Given the description of an element on the screen output the (x, y) to click on. 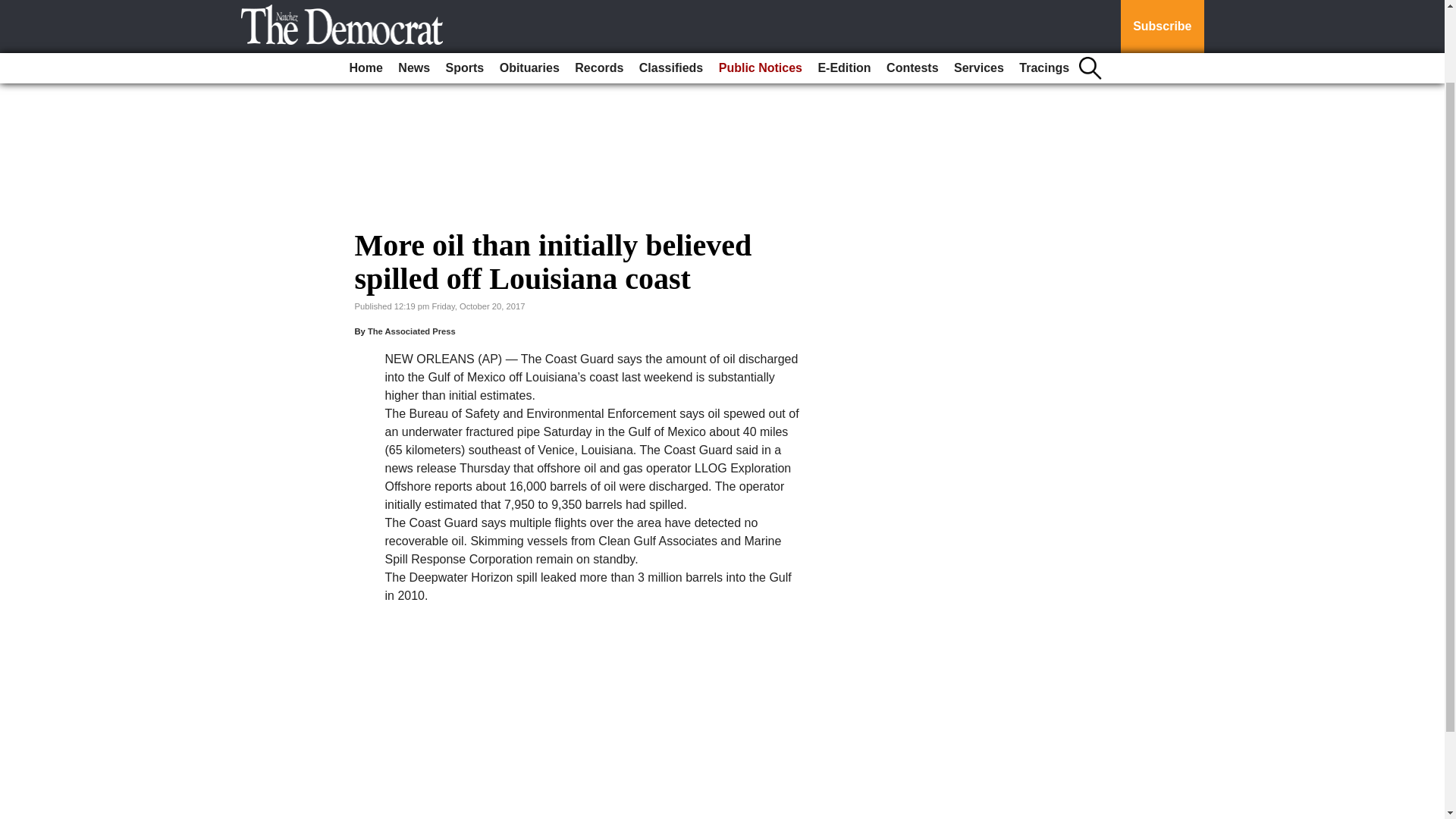
The Associated Press (411, 330)
